Given the description of an element on the screen output the (x, y) to click on. 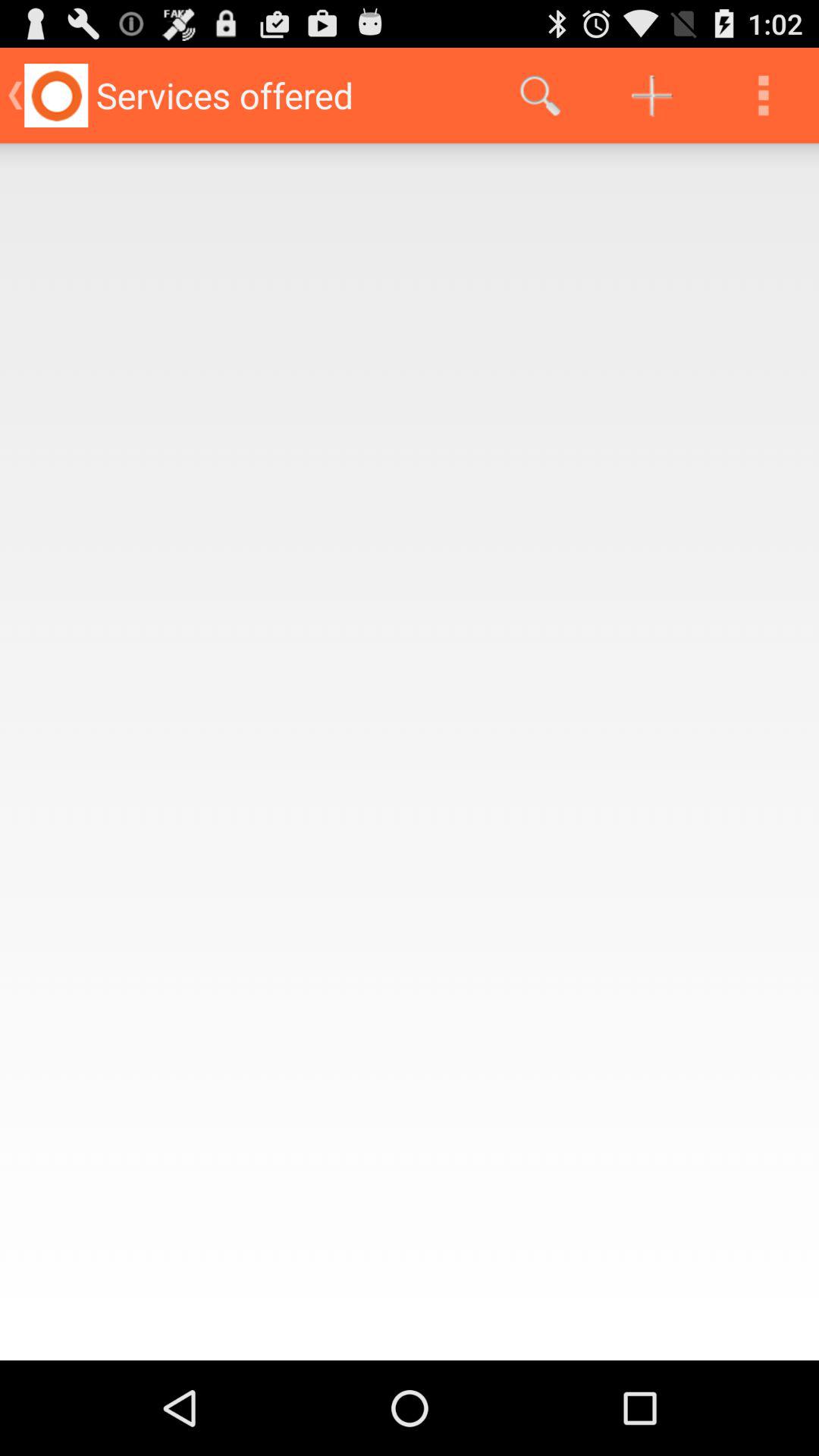
turn on the icon next to the services offered icon (540, 95)
